Given the description of an element on the screen output the (x, y) to click on. 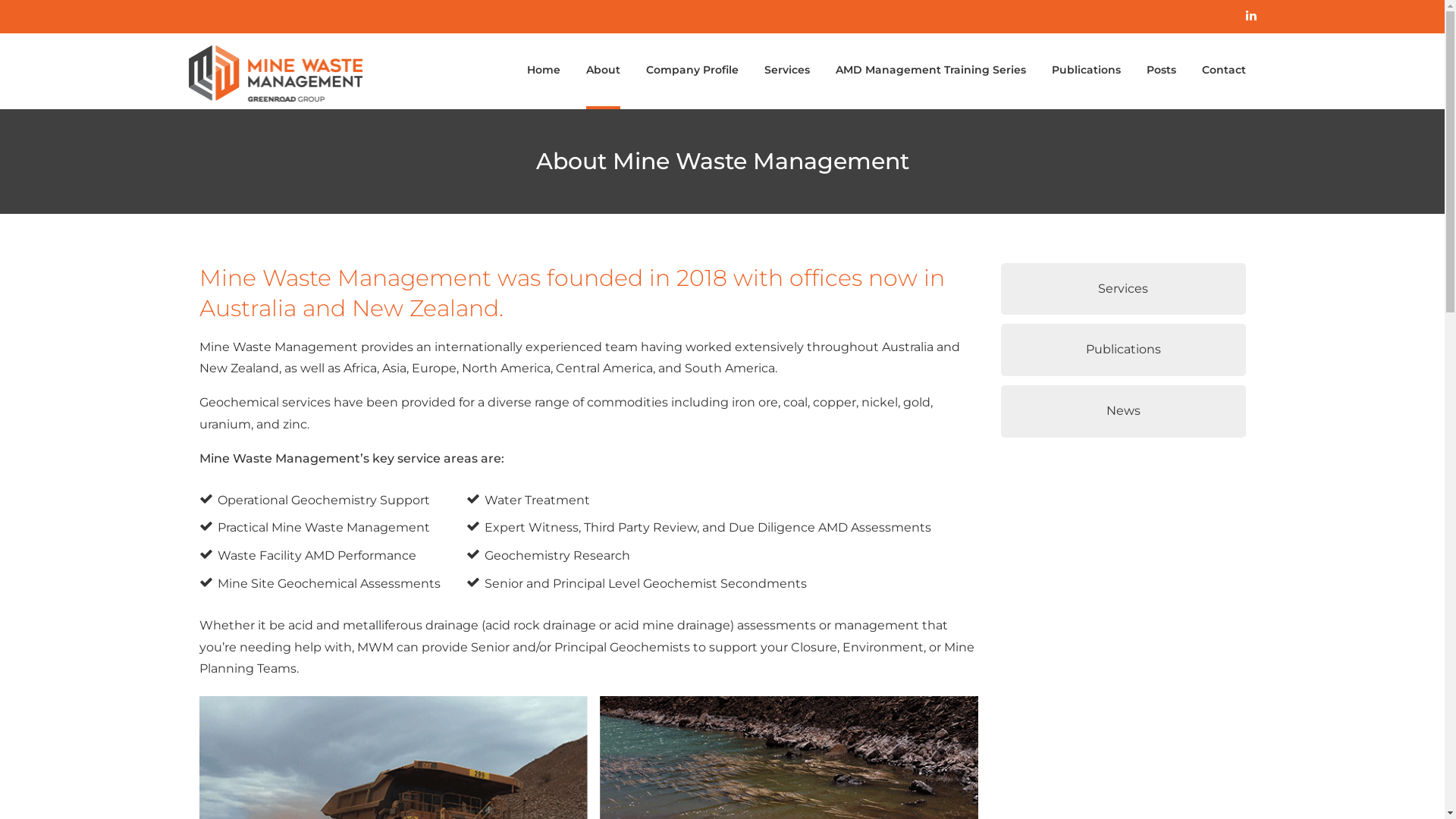
Publications Element type: text (1086, 62)
Services Element type: text (1123, 289)
News Element type: text (1123, 411)
Home Element type: text (543, 62)
Company Profile Element type: text (691, 62)
Contact Element type: text (1223, 62)
Services Element type: text (786, 62)
AMD Management Training Series Element type: text (929, 62)
Publications Element type: text (1123, 349)
About Element type: text (602, 79)
Posts Element type: text (1160, 62)
LinkedIn Element type: hover (1251, 16)
